Given the description of an element on the screen output the (x, y) to click on. 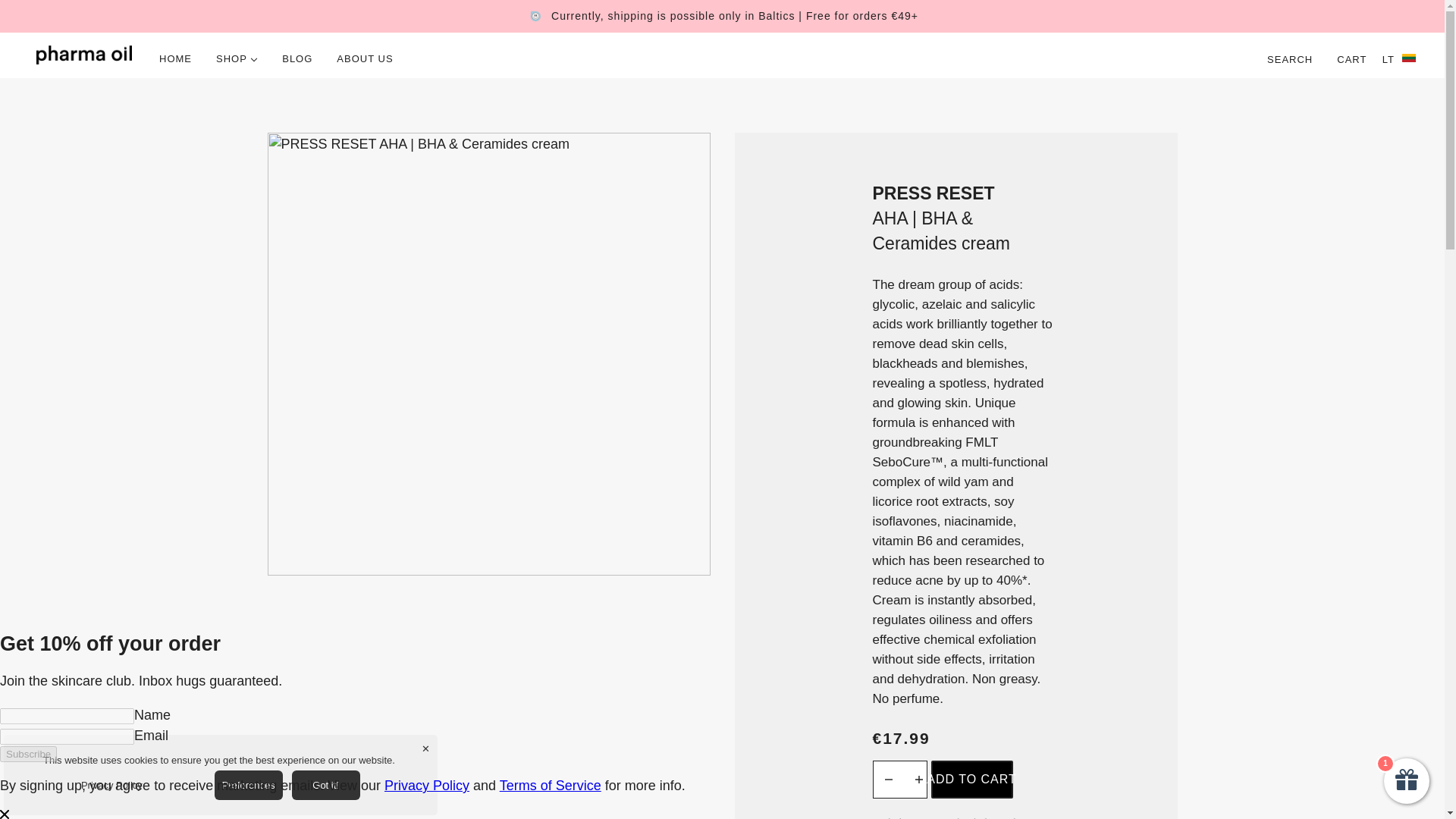
CART  (1352, 58)
LT (1398, 58)
HOME (175, 58)
BLOG (296, 58)
SHOP (236, 58)
ADD TO CART (972, 778)
pharmaoil (84, 54)
SEARCH (1289, 58)
ABOUT US (364, 58)
